Given the description of an element on the screen output the (x, y) to click on. 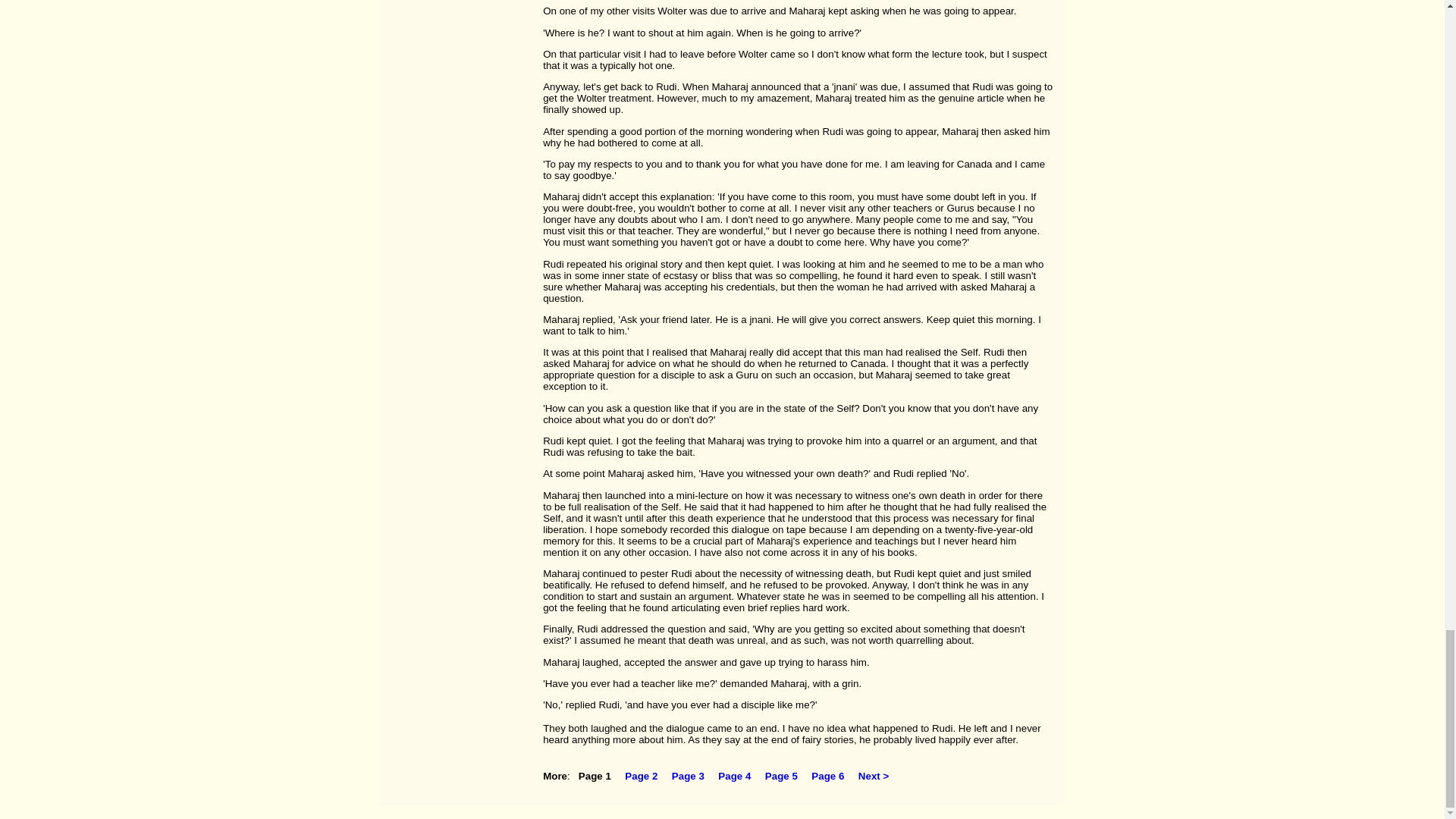
Page 2 (641, 776)
Page 3 (687, 776)
